Given the description of an element on the screen output the (x, y) to click on. 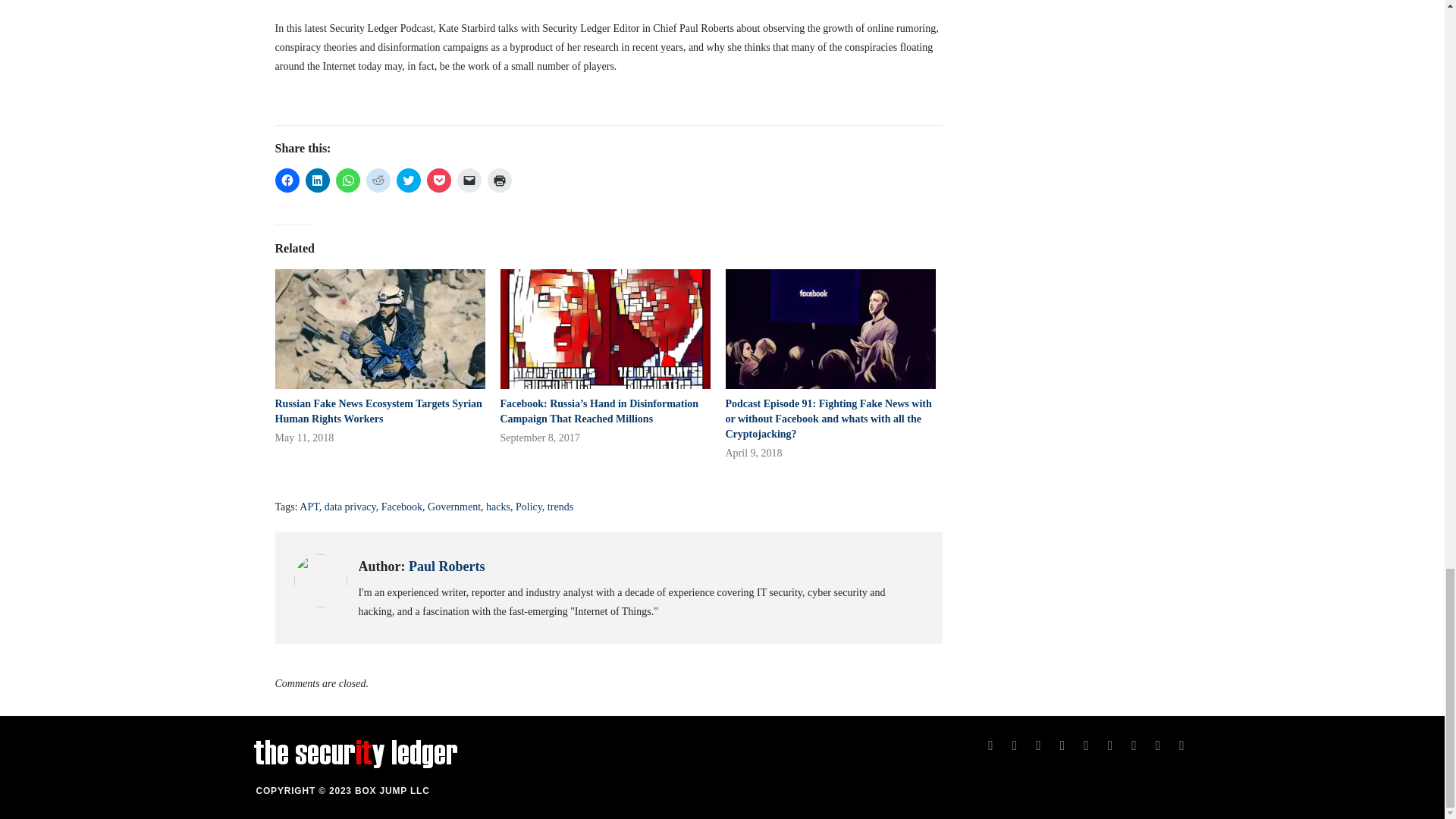
Click to share on Facebook (286, 180)
Click to share on LinkedIn (316, 180)
